Given the description of an element on the screen output the (x, y) to click on. 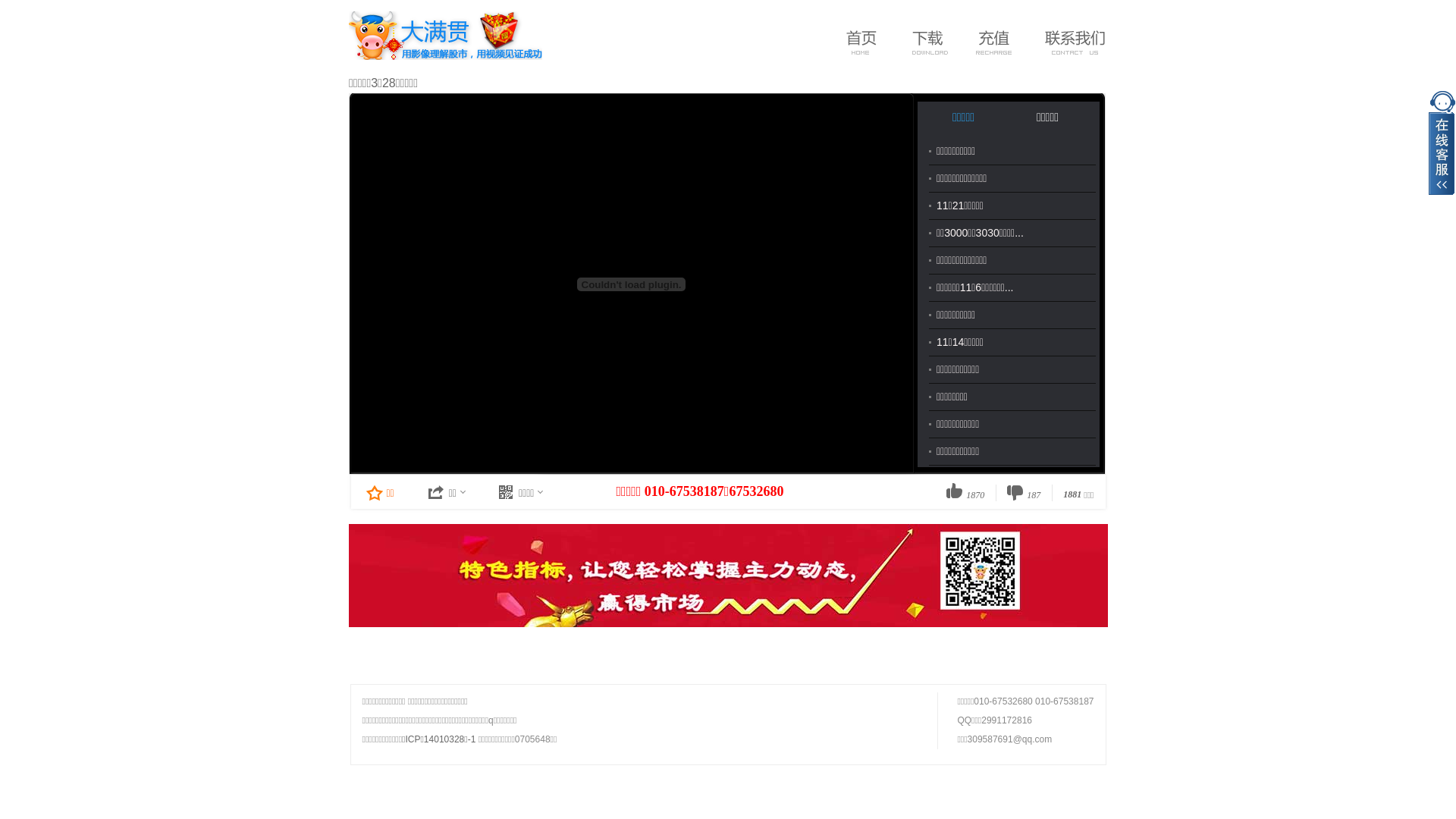
187 Element type: text (1023, 491)
1870 Element type: text (965, 491)
